Given the description of an element on the screen output the (x, y) to click on. 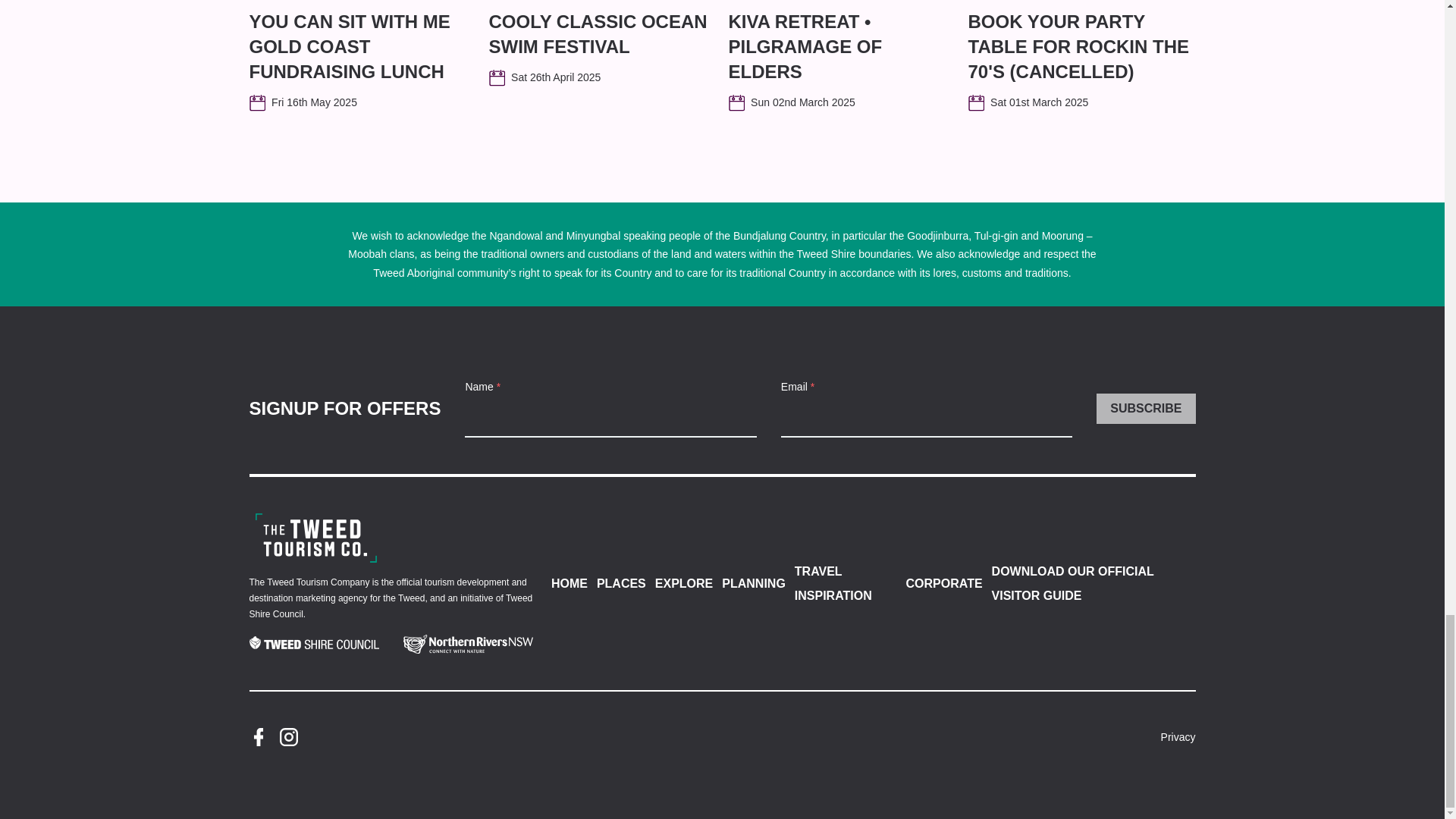
Corporate (314, 537)
Northern Rivers NSW (467, 643)
Tweed Shire Council (313, 644)
